Given the description of an element on the screen output the (x, y) to click on. 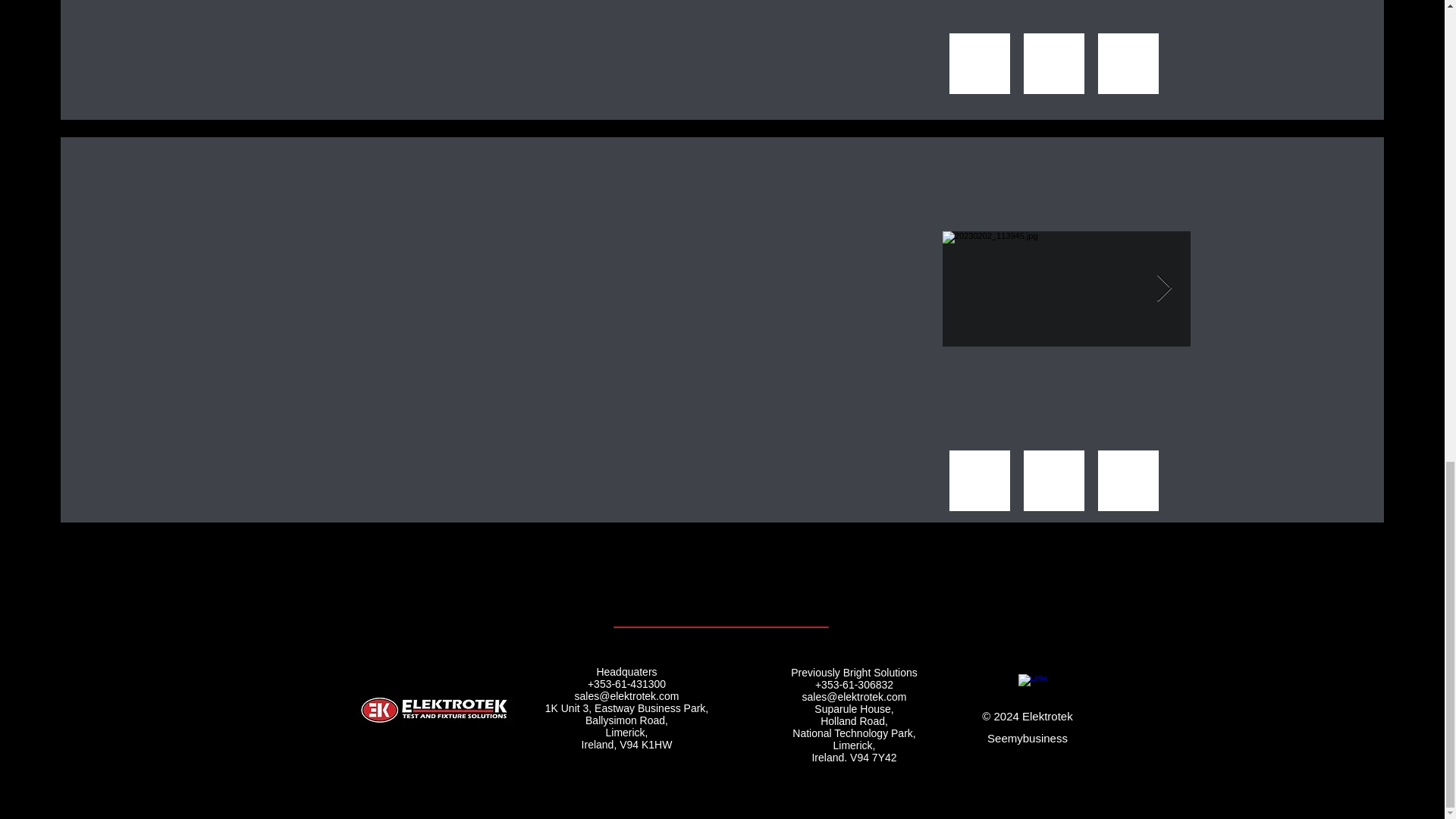
V94 K1HW (645, 744)
Seemybusiness (1027, 738)
